Given the description of an element on the screen output the (x, y) to click on. 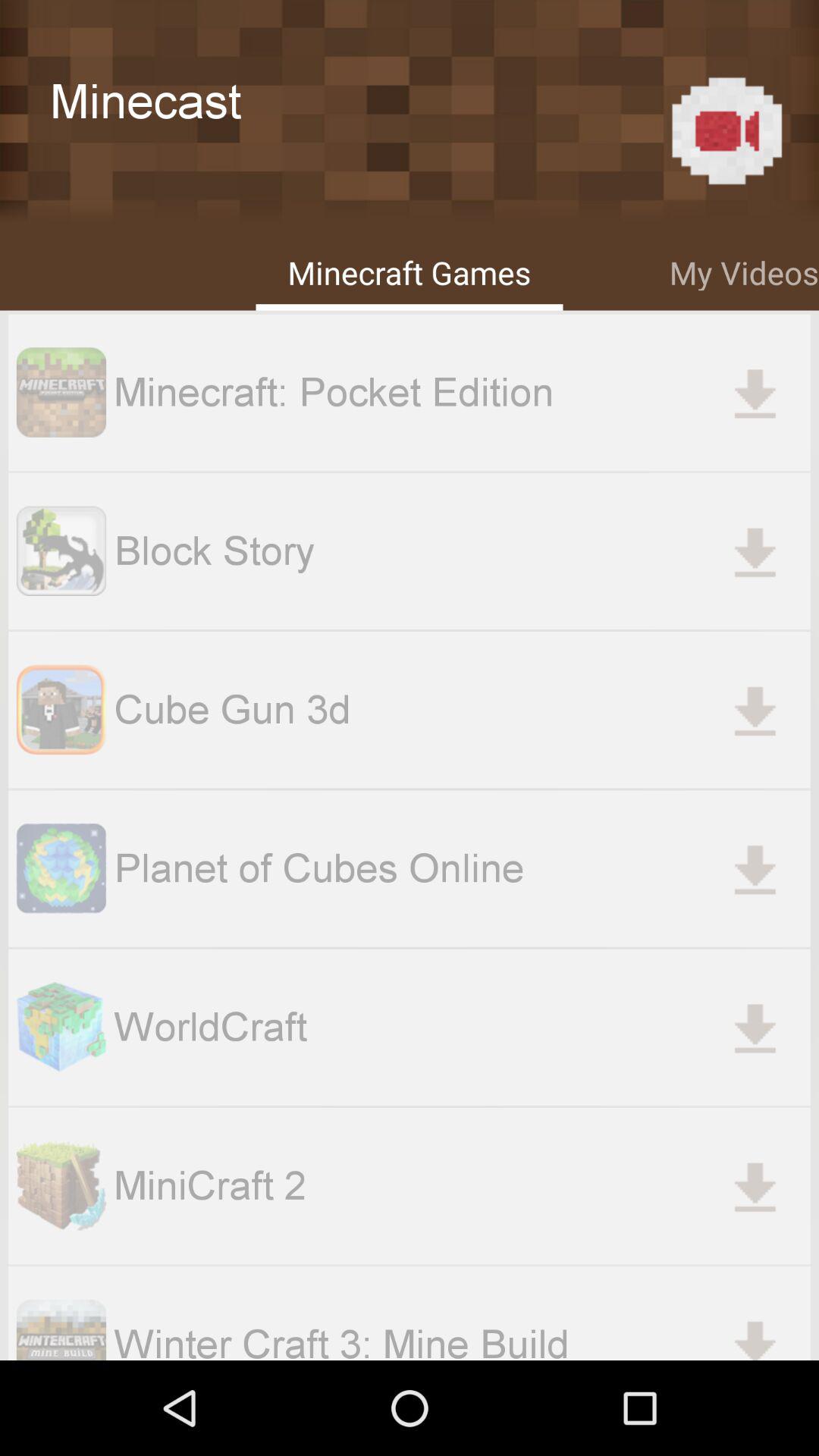
swipe to the minecraft: pocket edition item (462, 392)
